Given the description of an element on the screen output the (x, y) to click on. 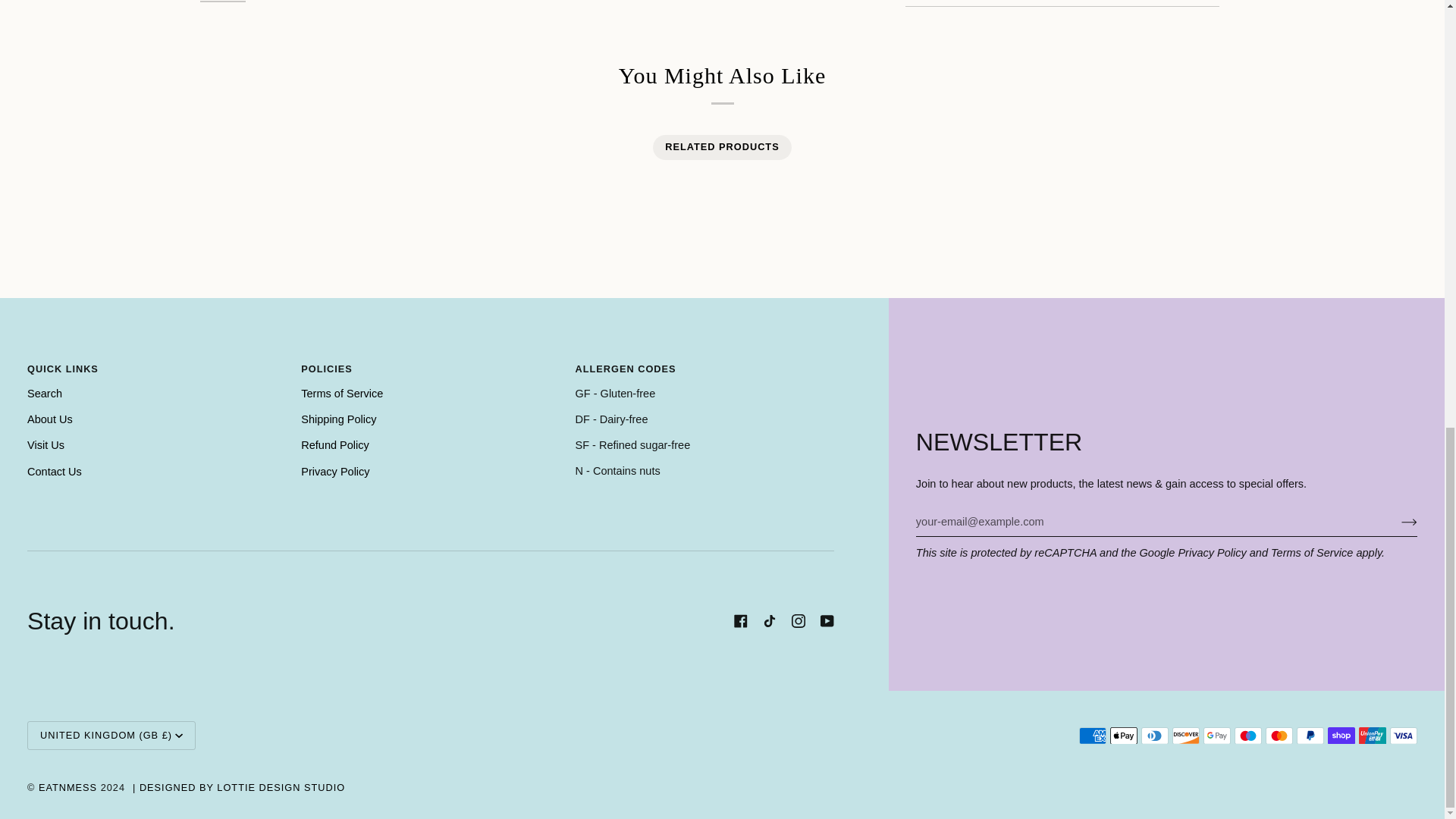
VISA (1403, 735)
MAESTRO (1248, 735)
PAYPAL (1310, 735)
AMERICAN EXPRESS (1092, 735)
Instagram (798, 621)
GOOGLE PAY (1217, 735)
Tiktok (769, 621)
Facebook (740, 621)
DISCOVER (1185, 735)
UNION PAY (1372, 735)
